Given the description of an element on the screen output the (x, y) to click on. 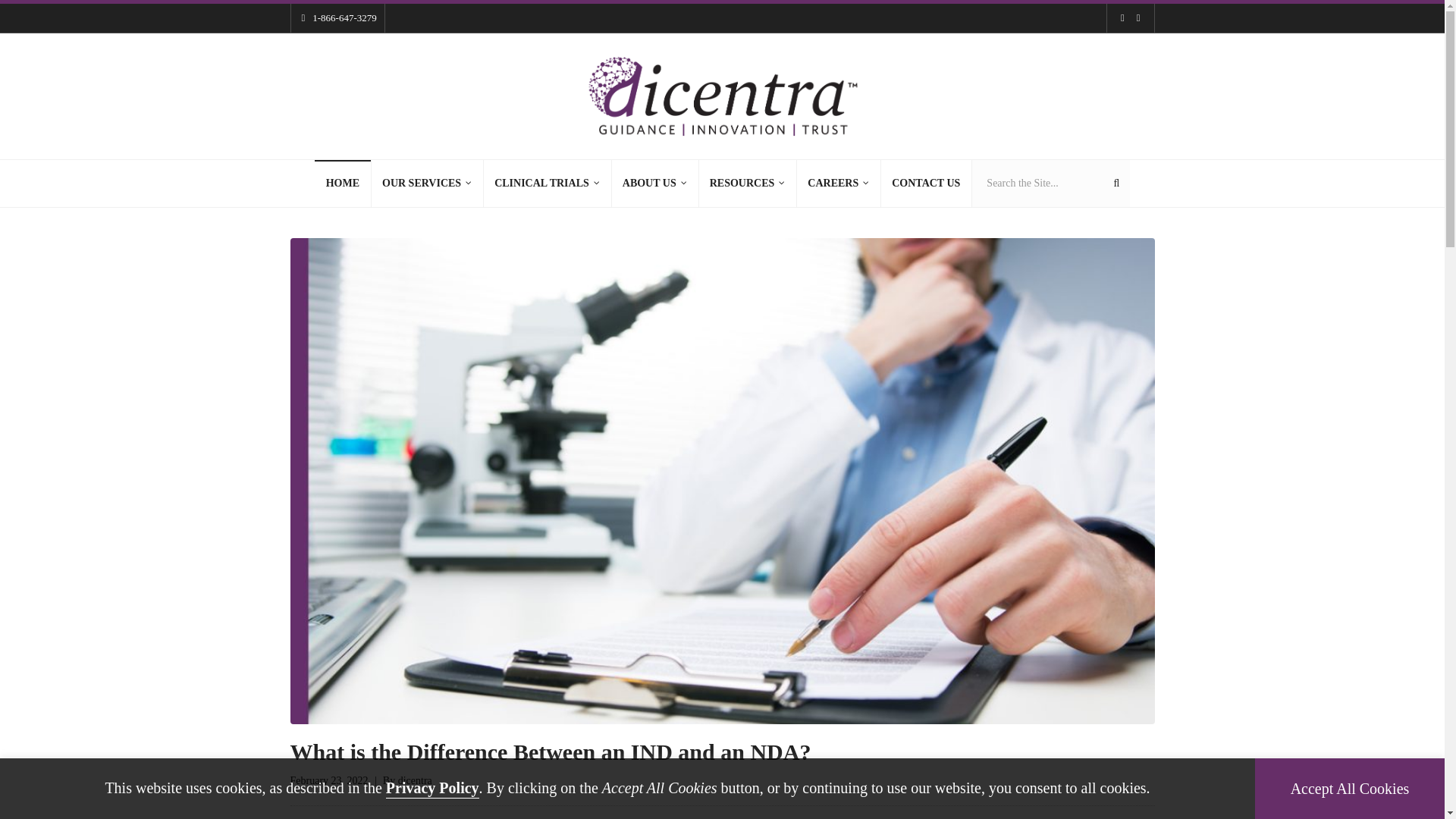
OUR SERVICES (427, 183)
Clinical Trials (547, 183)
ABOUT US (654, 183)
CLINICAL TRIALS (547, 183)
1-866-647-3279 (345, 17)
RESOURCES (747, 183)
HOME (342, 183)
HOME (342, 183)
OUR SERVICES (427, 183)
Careers (838, 183)
CONTACT US (925, 183)
